Given the description of an element on the screen output the (x, y) to click on. 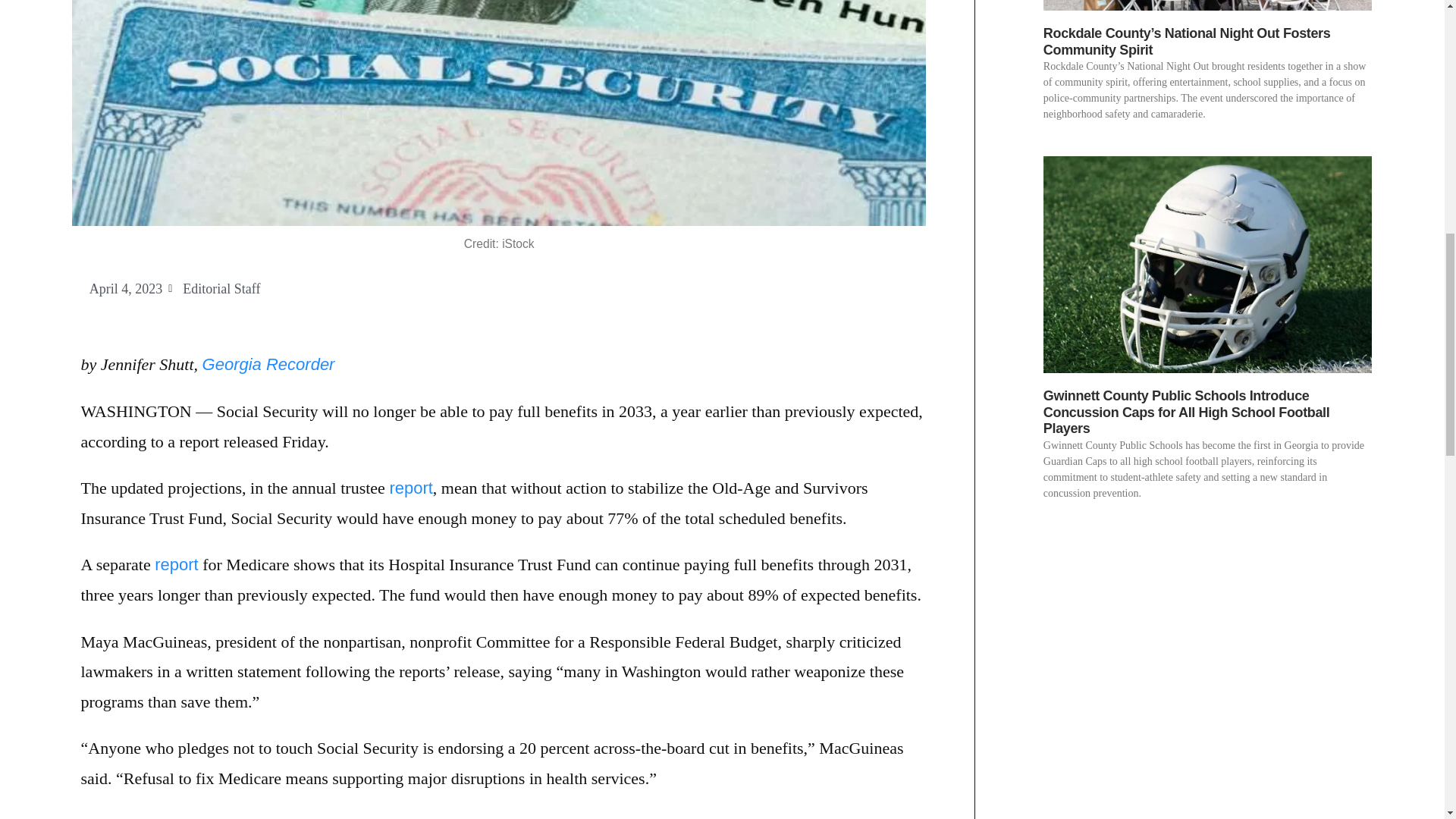
report (410, 487)
report (176, 564)
Georgia Recorder (268, 363)
